Given the description of an element on the screen output the (x, y) to click on. 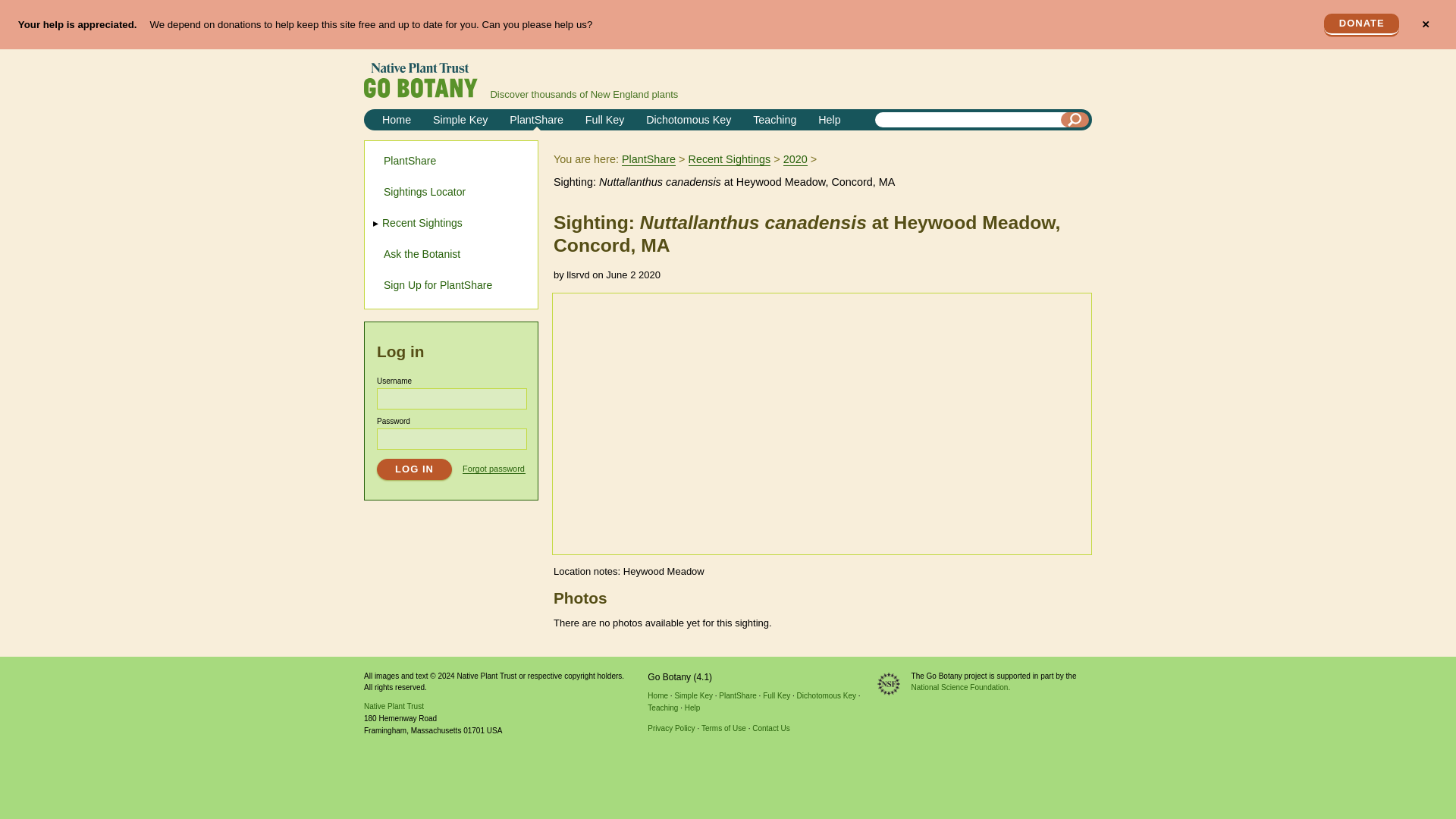
Full Key (604, 119)
Sightings Locator (424, 191)
Dichotomous Key (826, 695)
Teaching (774, 119)
Help (692, 707)
Teaching (662, 707)
PlantShare (409, 160)
2020 (795, 159)
Simple Key (459, 119)
Help (828, 119)
